Given the description of an element on the screen output the (x, y) to click on. 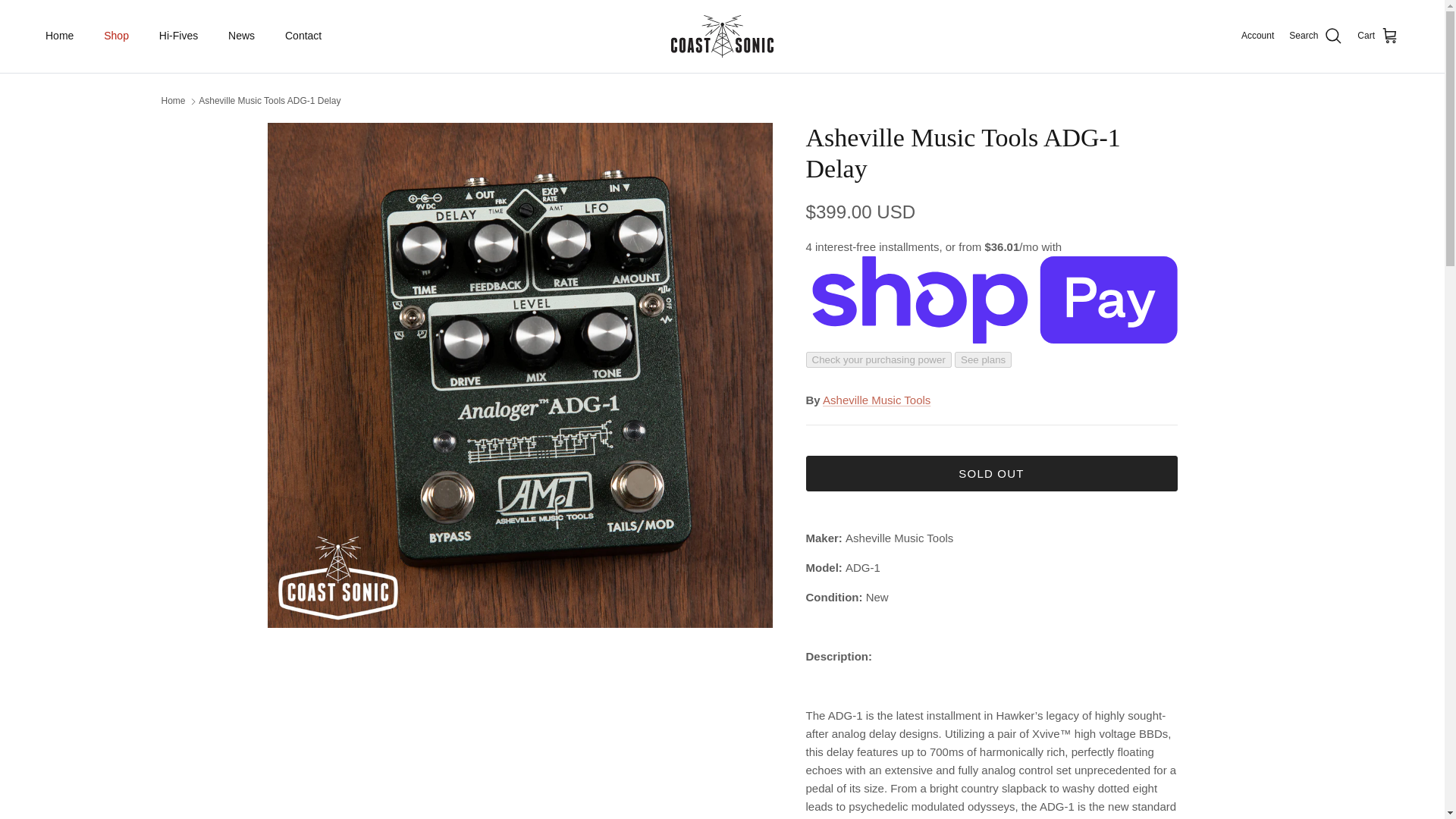
Hi-Fives (178, 35)
Shop (116, 35)
Home (59, 35)
Account (1257, 35)
Asheville Music Tools (876, 399)
News (240, 35)
Contact (302, 35)
Coast Sonic (722, 36)
SOLD OUT (990, 473)
Home (172, 100)
